Given the description of an element on the screen output the (x, y) to click on. 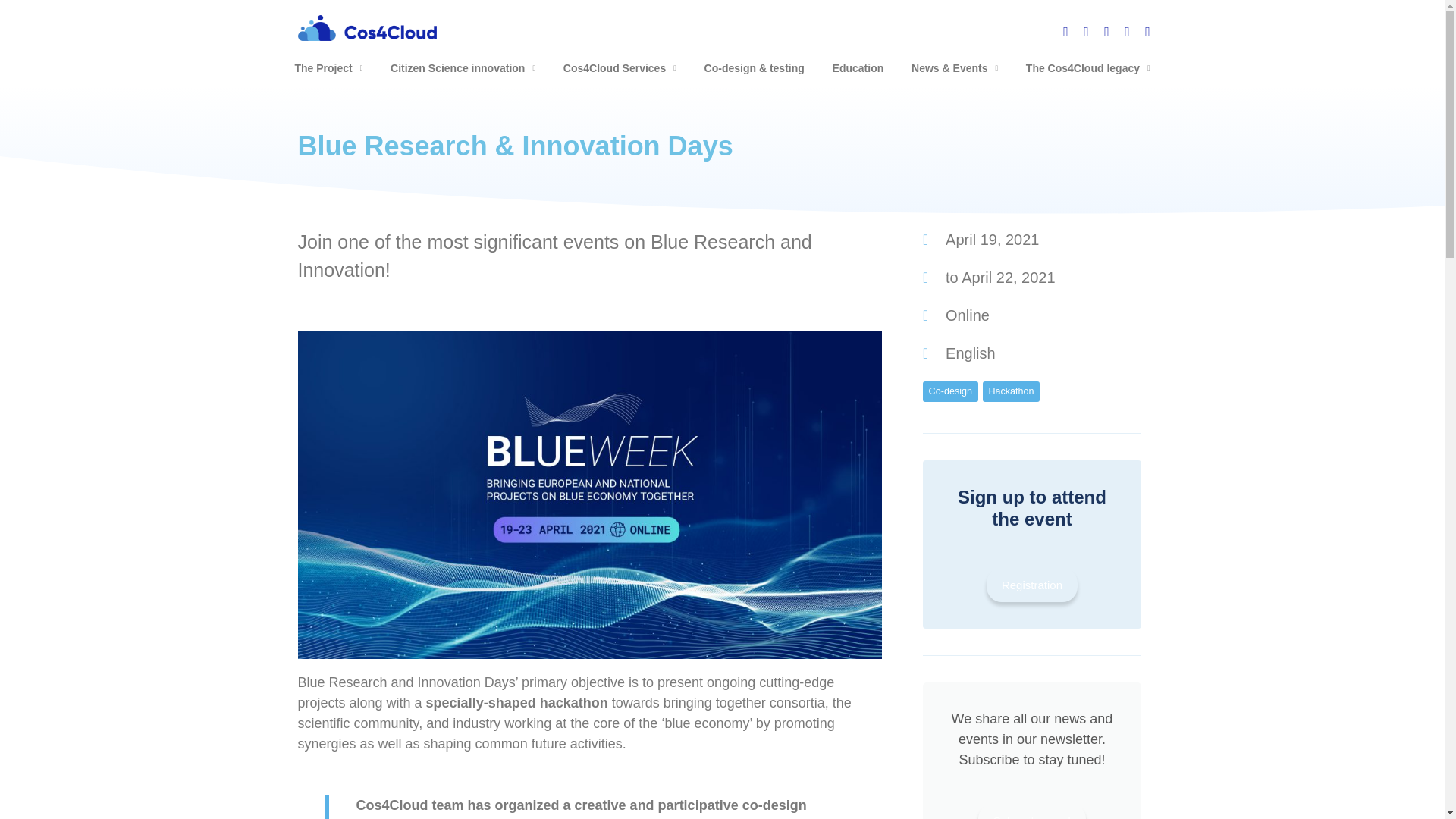
Cos4Cloud Services (620, 67)
The Project (327, 67)
Citizen Science innovation (462, 67)
